Given the description of an element on the screen output the (x, y) to click on. 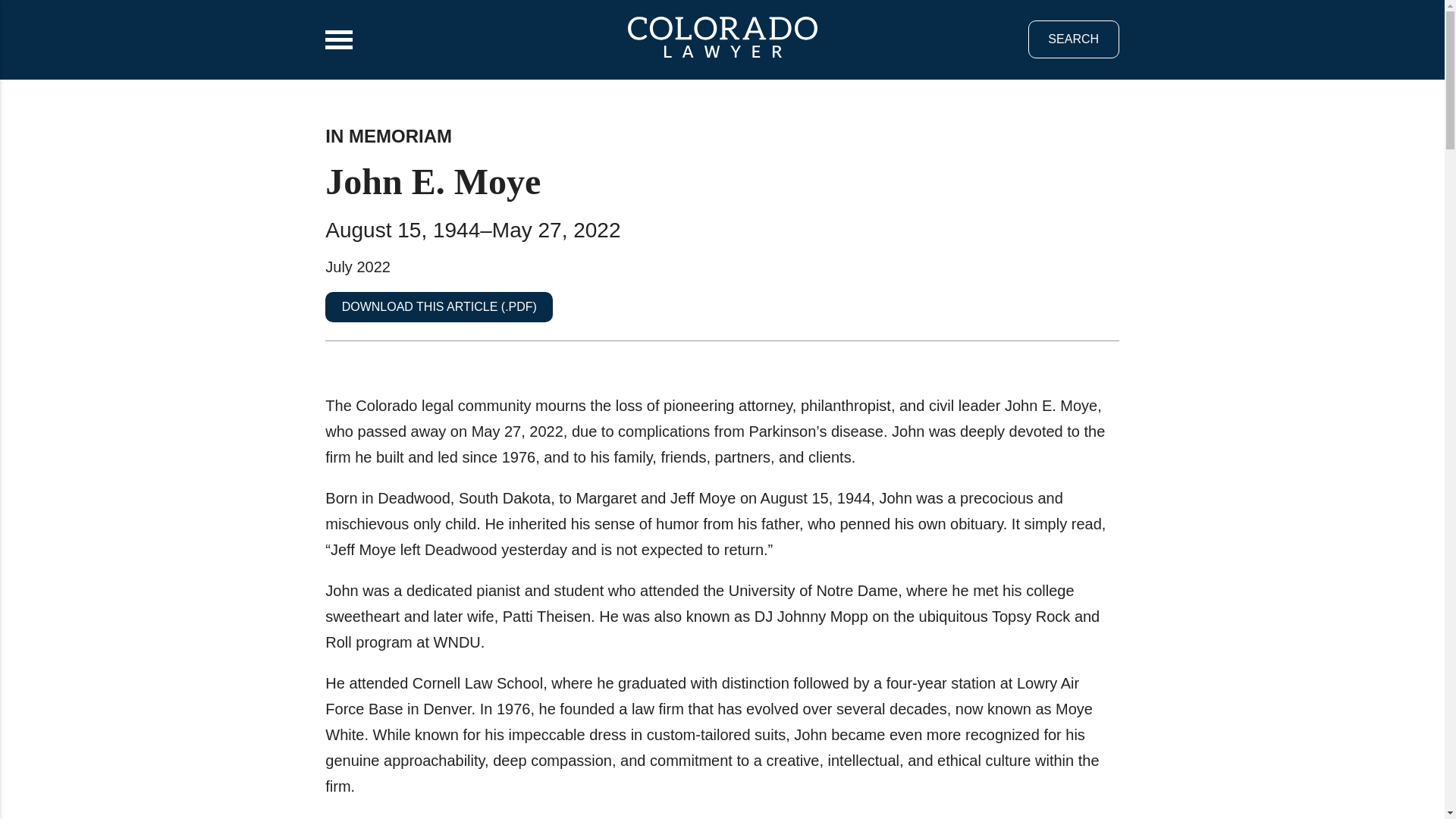
SEARCH (1073, 39)
IN MEMORIAM (387, 136)
